Given the description of an element on the screen output the (x, y) to click on. 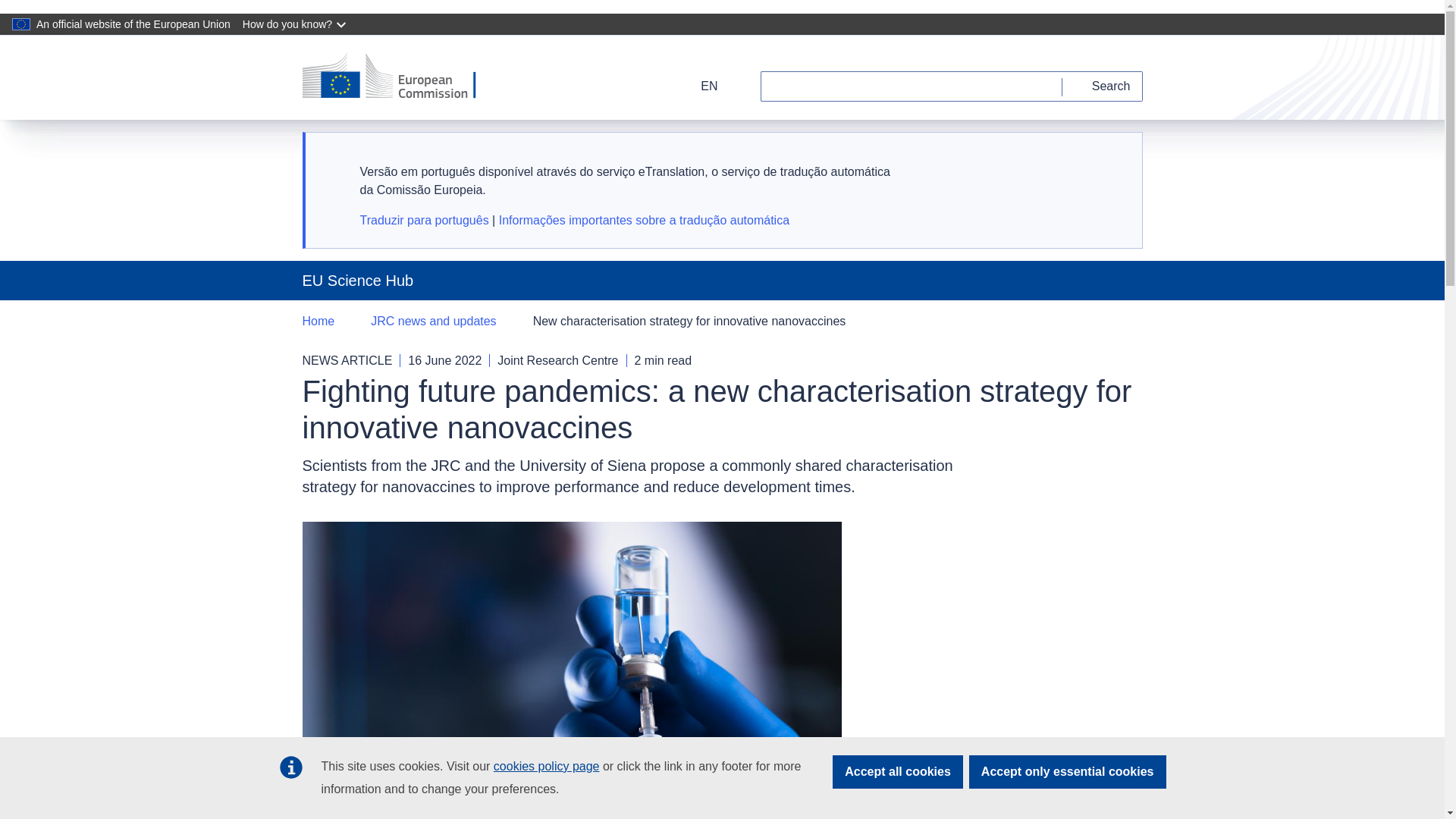
Search (1102, 86)
Accept all cookies (897, 771)
cookies policy page (546, 766)
Accept only essential cookies (1067, 771)
Fechar esta mensagem (1112, 159)
Home (317, 321)
EN (699, 86)
How do you know? (295, 24)
JRC news and updates (433, 321)
